Given the description of an element on the screen output the (x, y) to click on. 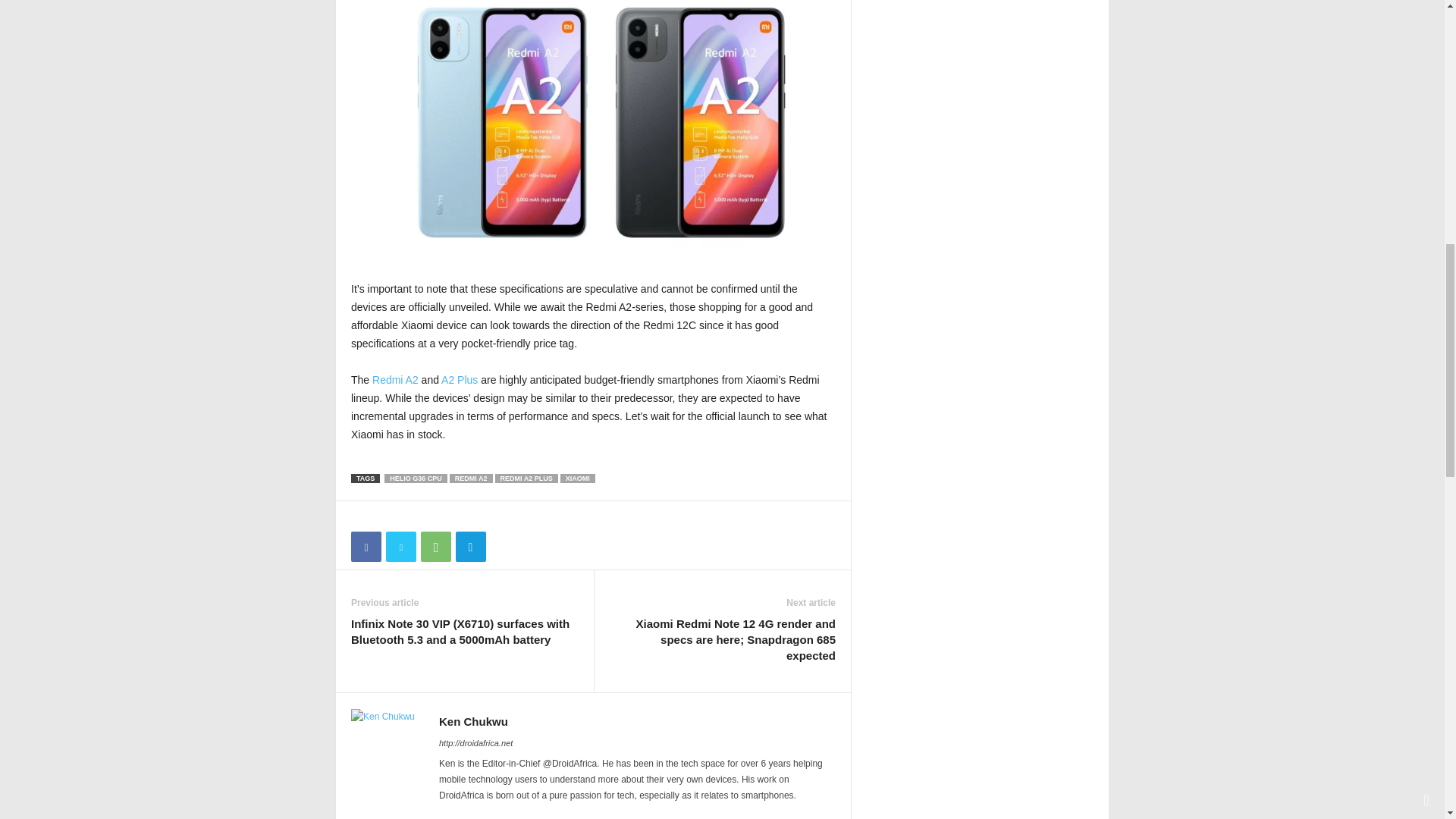
WhatsApp (435, 546)
Facebook (365, 546)
Xiaomi Redmi a2 Plus 8666390 1024x538 (592, 124)
A2 Plus (459, 379)
XIAOMI (577, 478)
Redmi A2 (395, 379)
Twitter (400, 546)
HELIO G36 CPU (415, 478)
bottomFacebookLike (390, 516)
REDMI A2 (471, 478)
Telegram (470, 546)
REDMI A2 PLUS (526, 478)
